Given the description of an element on the screen output the (x, y) to click on. 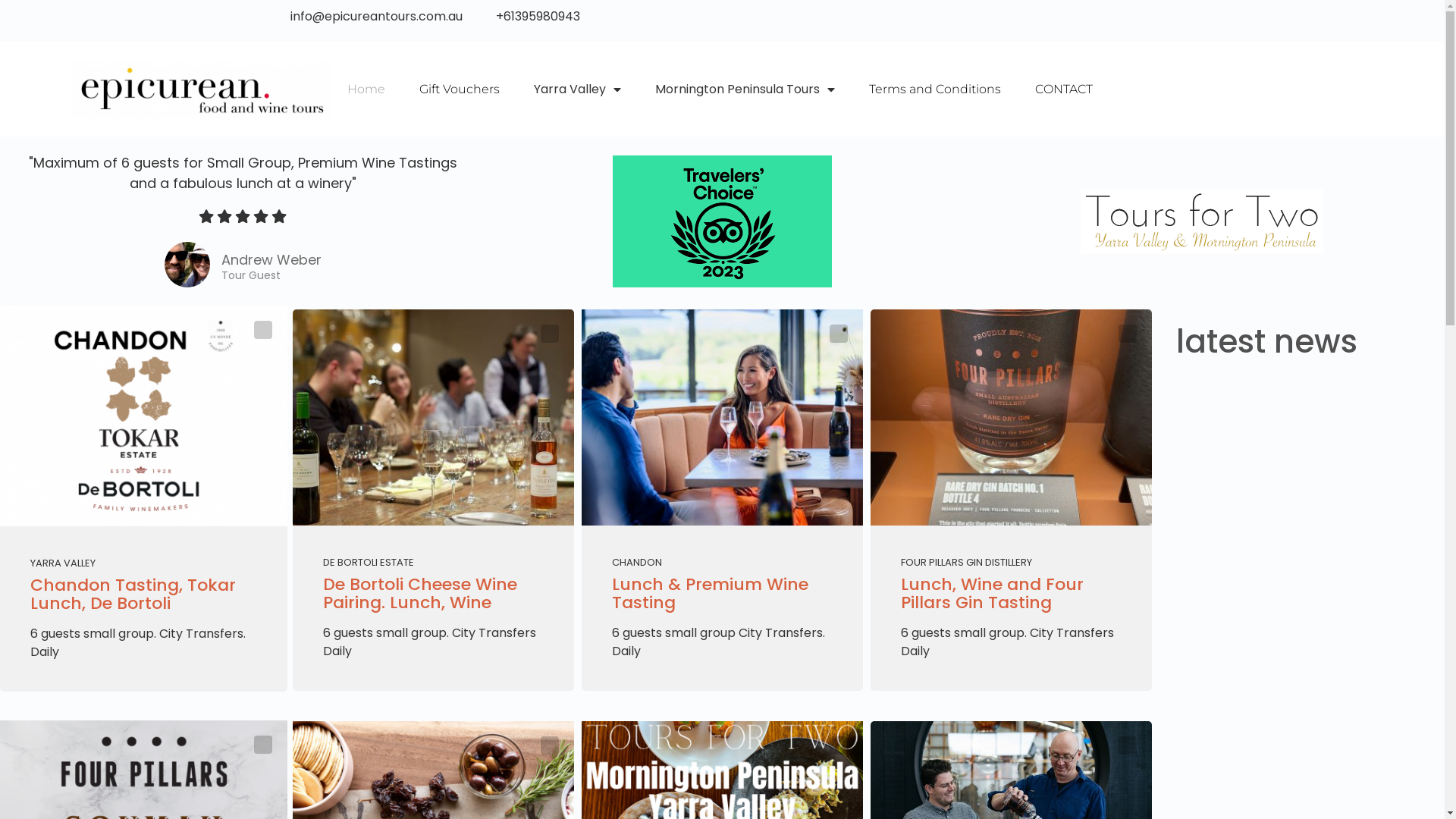
CONTACT Element type: text (1063, 88)
Mornington Peninsula Tours Element type: text (745, 88)
Gift Vouchers Element type: text (459, 88)
Terms and Conditions Element type: text (934, 88)
Home Element type: text (366, 88)
Yarra Valley Element type: text (577, 88)
